Given the description of an element on the screen output the (x, y) to click on. 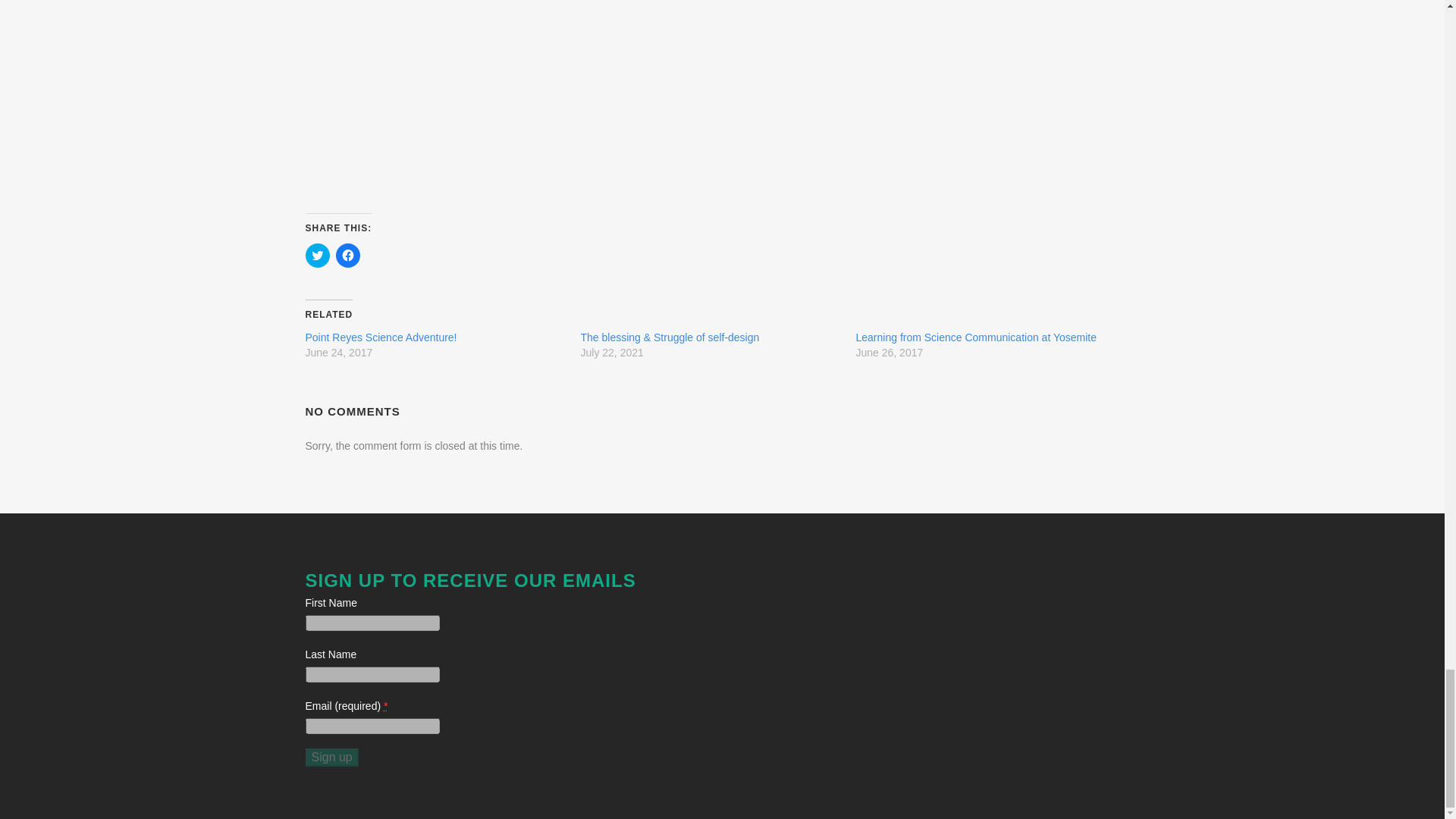
Point Reyes Science Adventure! (380, 337)
Sign up (331, 757)
Click to share on Facebook (346, 255)
Click to share on Twitter (316, 255)
Learning from Science Communication at Yosemite (976, 337)
